Given the description of an element on the screen output the (x, y) to click on. 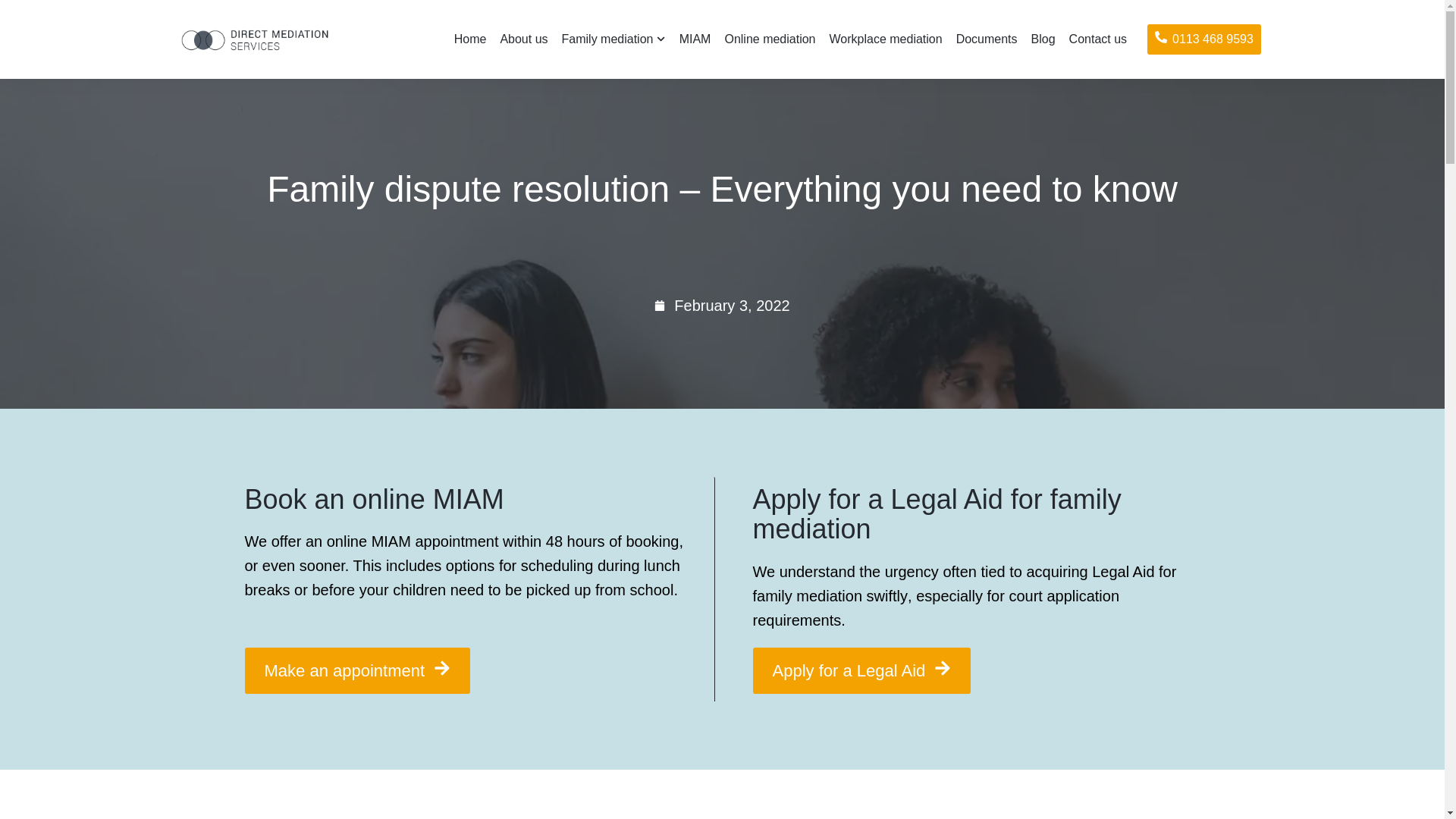
Documents (986, 39)
Contact us (1097, 39)
About us (523, 39)
MIAM (695, 39)
Home (470, 39)
Online mediation (769, 39)
0113 468 9593 (1203, 39)
Blog (1042, 39)
Workplace mediation (885, 39)
Family mediation (613, 39)
